Given the description of an element on the screen output the (x, y) to click on. 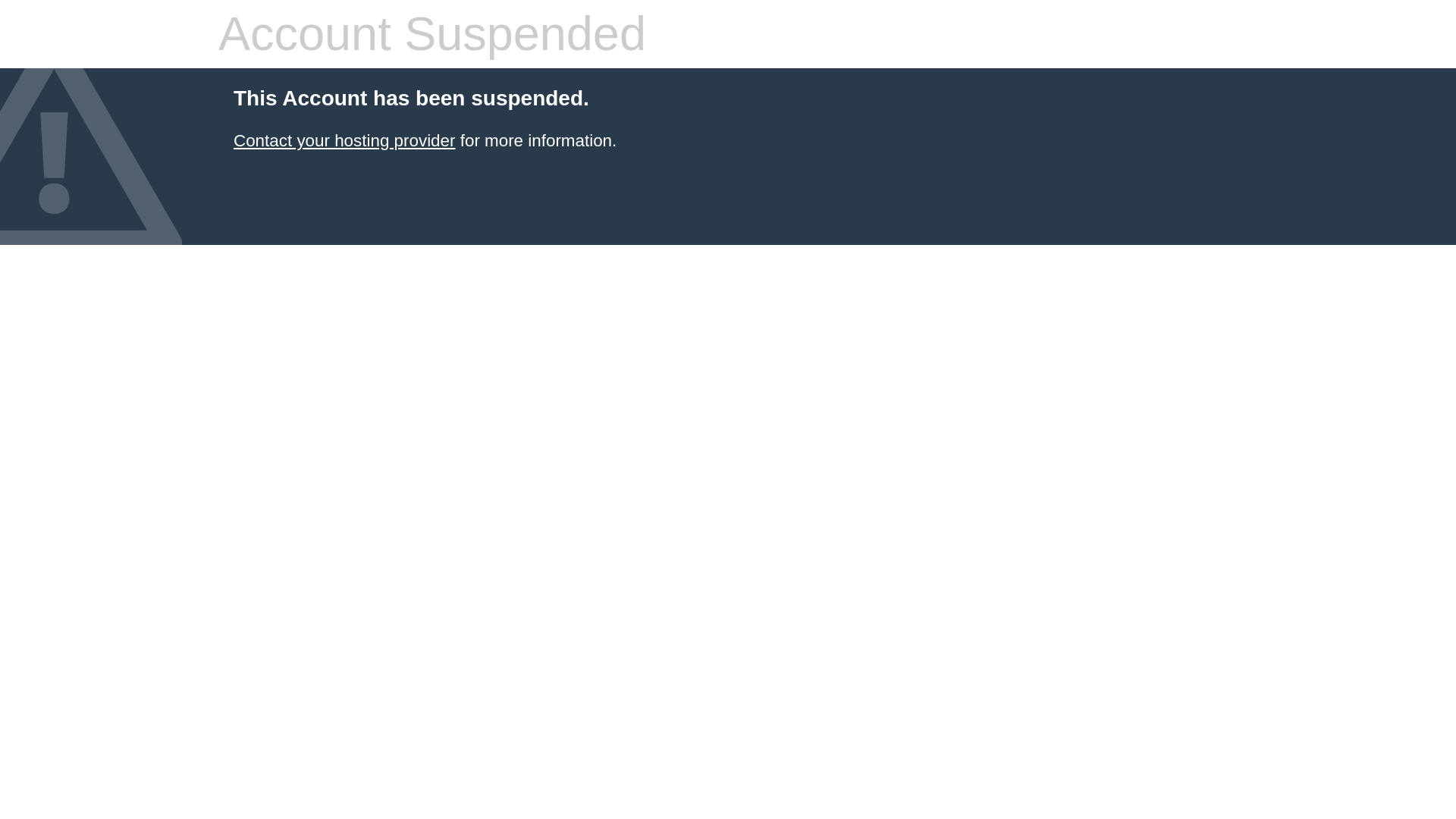
Contact your hosting provider (343, 140)
